Given the description of an element on the screen output the (x, y) to click on. 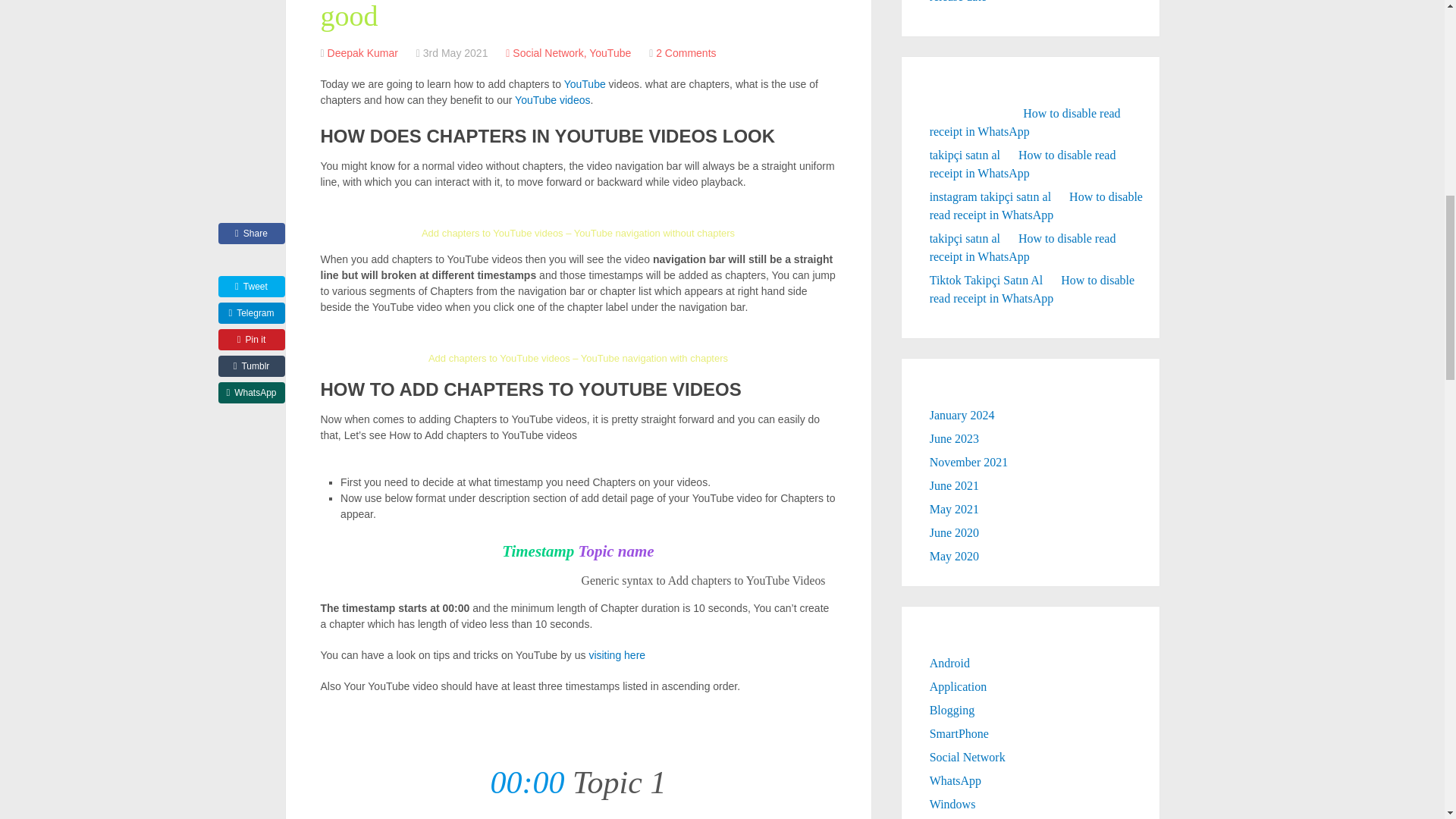
YouTube (584, 83)
YouTube (609, 52)
visiting here (616, 654)
View all posts in YouTube (609, 52)
View all posts in Social Network (547, 52)
YouTube videos (552, 100)
Posts by Deepak Kumar (362, 52)
2 Comments (686, 52)
Deepak Kumar (362, 52)
Social Network (547, 52)
